Given the description of an element on the screen output the (x, y) to click on. 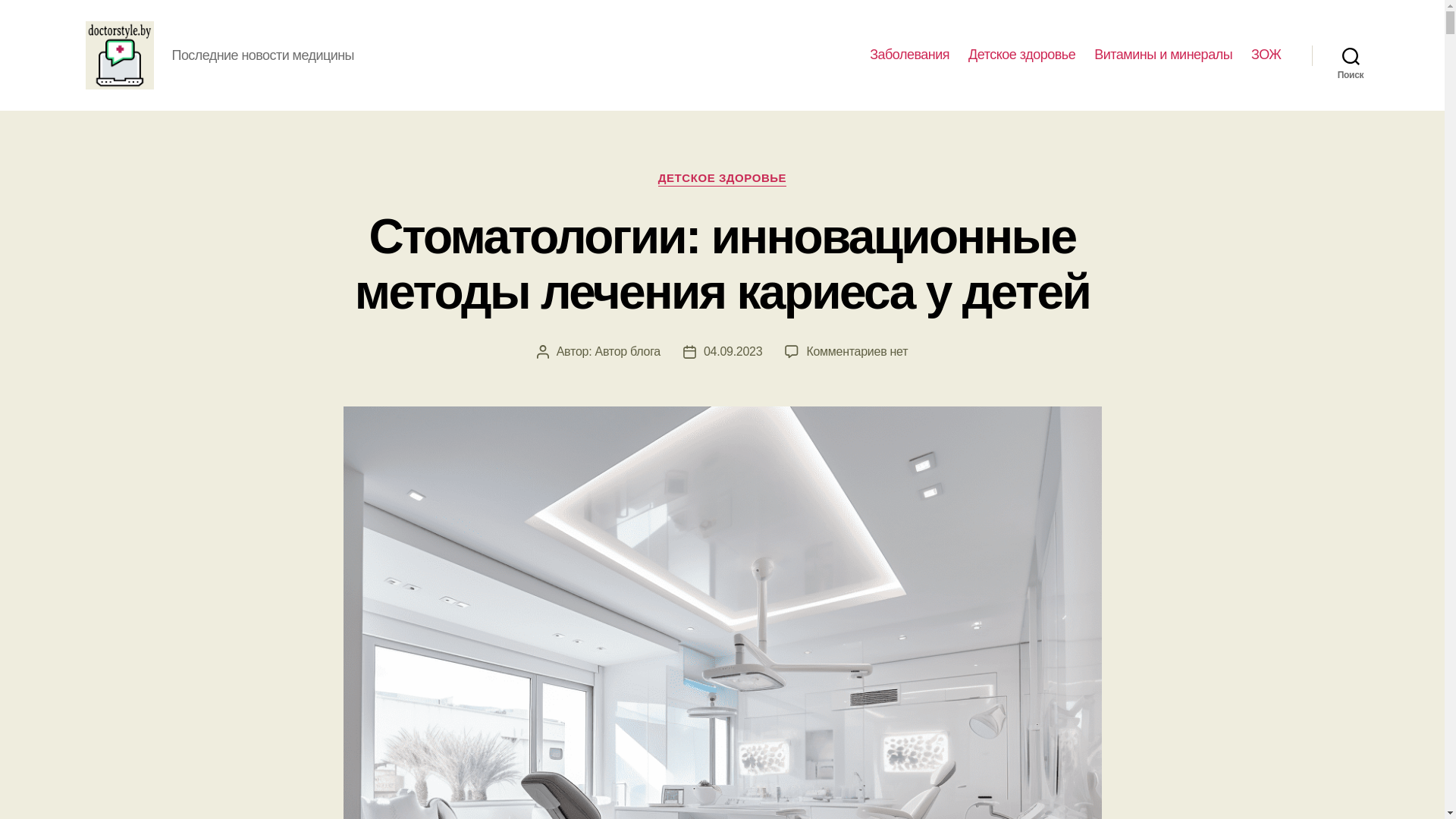
04.09.2023 Element type: text (732, 350)
